Given the description of an element on the screen output the (x, y) to click on. 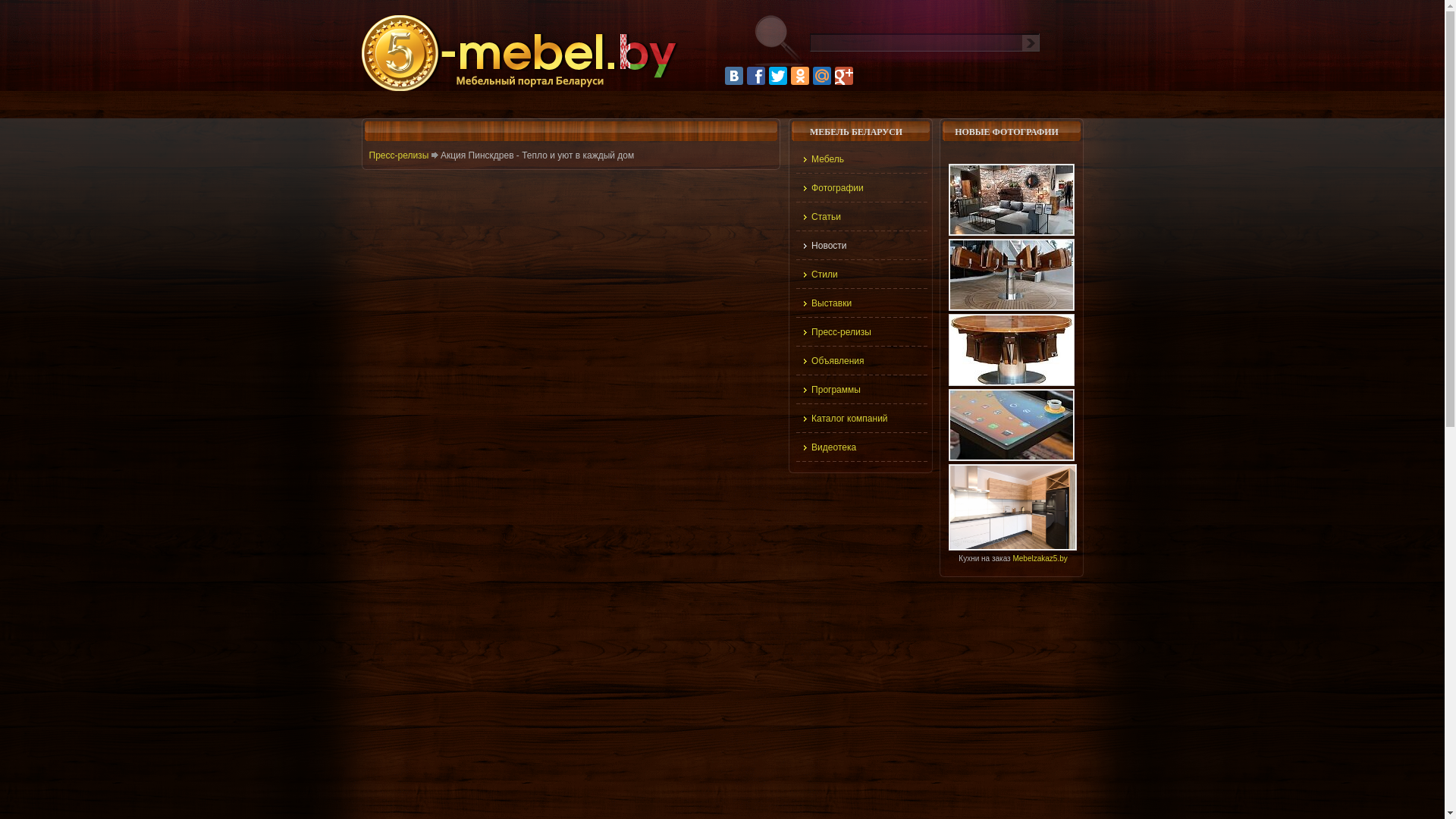
Google Plus Element type: hover (843, 75)
Mebelzakaz5.by Element type: text (1039, 558)
Facebook Element type: hover (755, 75)
Twitter Element type: hover (777, 75)
